Given the description of an element on the screen output the (x, y) to click on. 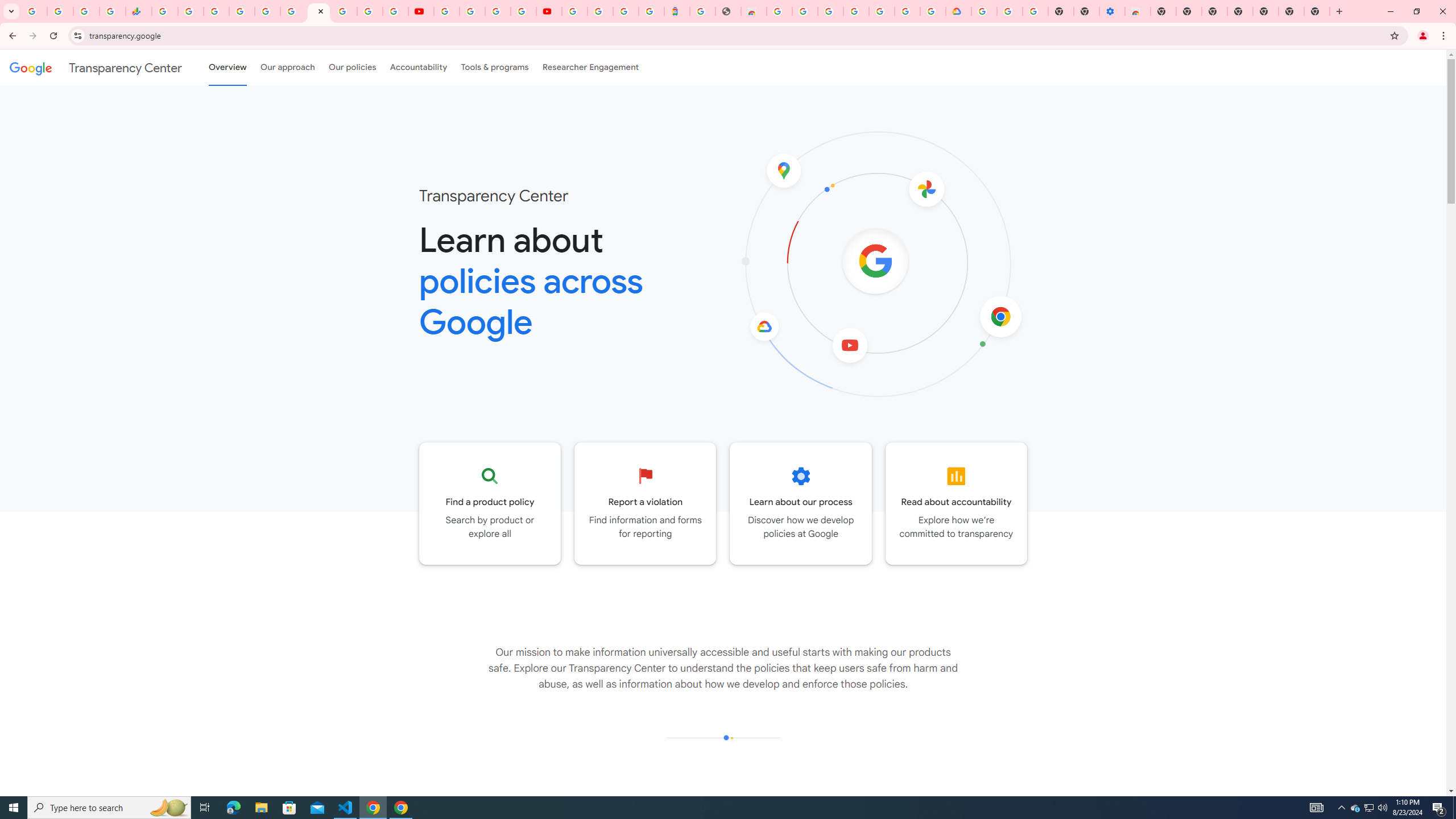
Transparency Center (95, 67)
Sign in - Google Accounts (344, 11)
Google Workspace Admin Community (34, 11)
Sign in - Google Accounts (983, 11)
New Tab (1316, 11)
YouTube (421, 11)
Turn cookies on or off - Computer - Google Account Help (1034, 11)
